Given the description of an element on the screen output the (x, y) to click on. 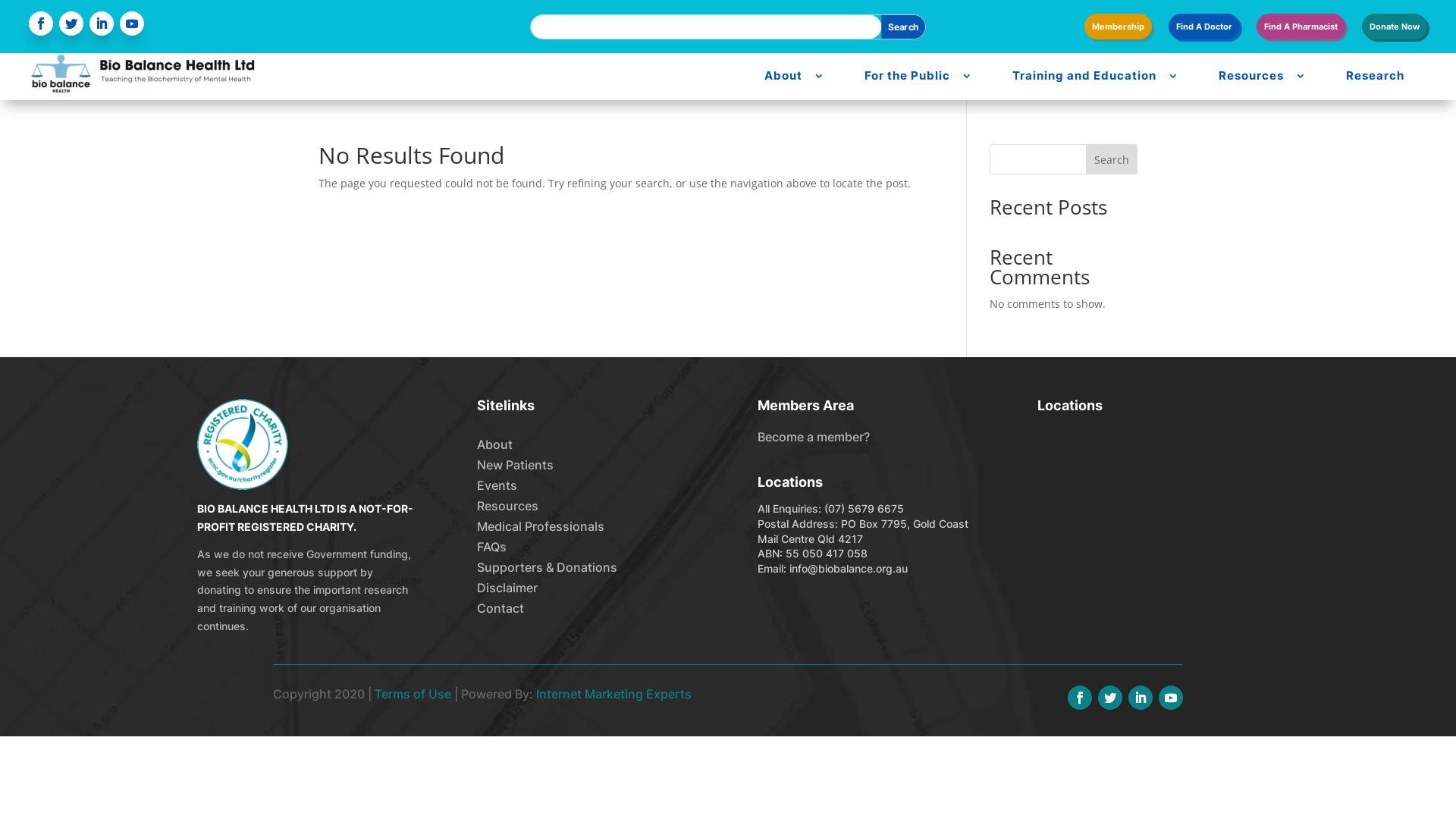
Supporters & Donations Element type: text (546, 566)
Become a member? Element type: text (812, 436)
Find A Pharmacist Element type: text (1300, 29)
Donate Now Element type: text (1394, 29)
Medical Professionals Element type: text (540, 525)
Follow on LinkedIn Element type: hover (1140, 697)
Membership Element type: text (1117, 29)
Research Element type: text (1375, 75)
charity Element type: hover (242, 443)
Events Element type: text (496, 484)
Follow on Youtube Element type: hover (1170, 697)
Search Element type: text (1111, 159)
Follow on LinkedIn Element type: hover (101, 23)
Internet Marketing Experts Element type: text (613, 693)
Follow on Facebook Element type: hover (40, 23)
For the Public Element type: text (906, 75)
Training and Education Element type: text (1084, 75)
Follow on Twitter Element type: hover (1110, 697)
Disclaimer Element type: text (506, 587)
Contact Element type: text (500, 607)
Search Element type: text (906, 28)
FAQs Element type: text (491, 546)
About Element type: text (494, 443)
Resources Element type: text (507, 505)
Follow on Twitter Element type: hover (71, 23)
New Patients Element type: text (514, 464)
Find A Doctor Element type: text (1203, 29)
Follow on Youtube Element type: hover (131, 23)
Terms of Use Element type: text (412, 693)
About Element type: text (783, 75)
Follow on Facebook Element type: hover (1079, 697)
Resources Element type: text (1250, 75)
